Given the description of an element on the screen output the (x, y) to click on. 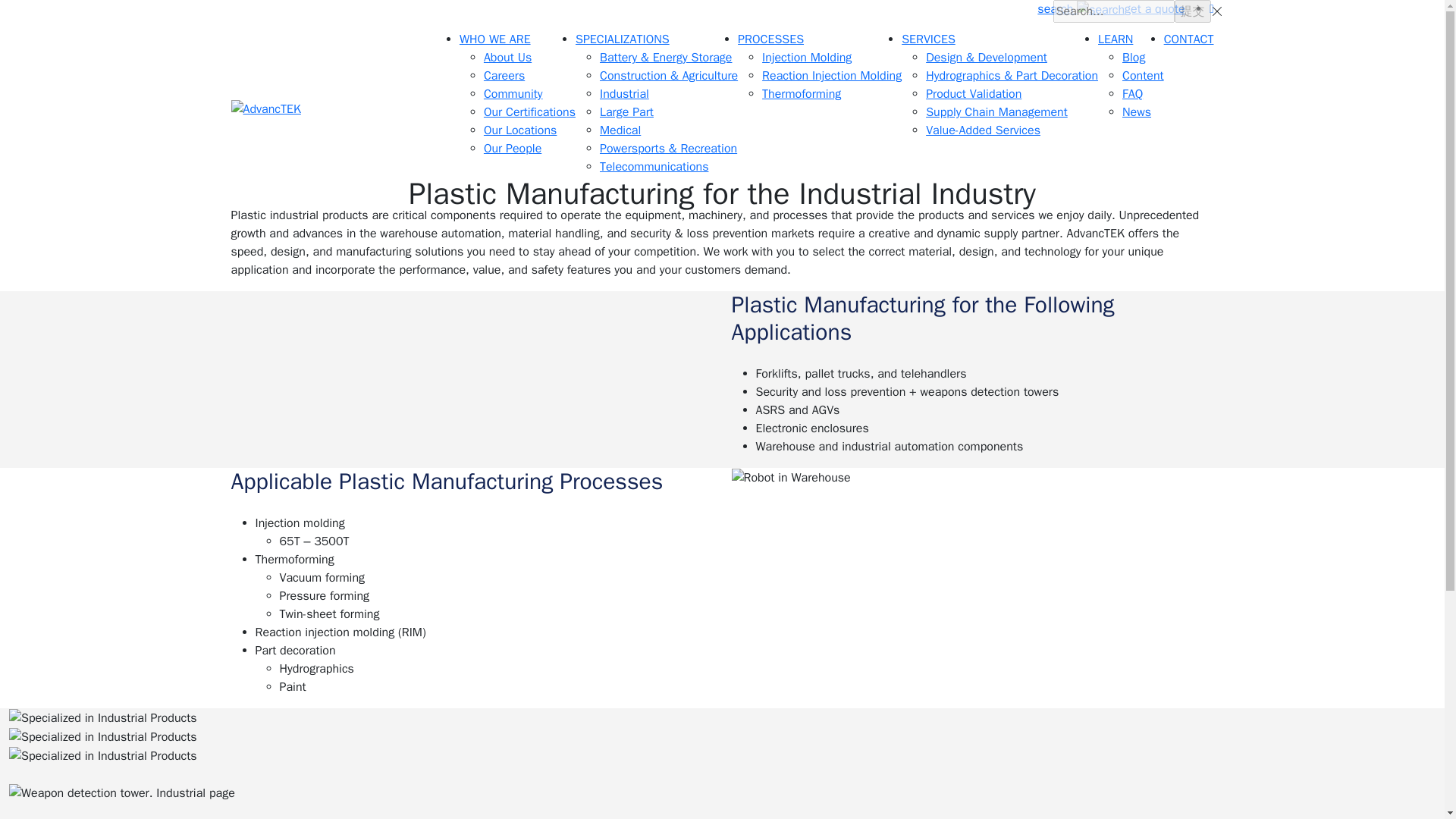
PROCESSES (770, 38)
Community (513, 93)
Product Validation (974, 93)
Our People (512, 148)
Careers (503, 75)
Reaction Injection Molding (831, 75)
search (1080, 8)
Industrial (624, 93)
LEARN (1114, 38)
WHO WE ARE (495, 38)
Medical (619, 130)
Blog (1133, 57)
Our Certifications (529, 111)
Large Part (626, 111)
Value-Added Services (983, 130)
